Given the description of an element on the screen output the (x, y) to click on. 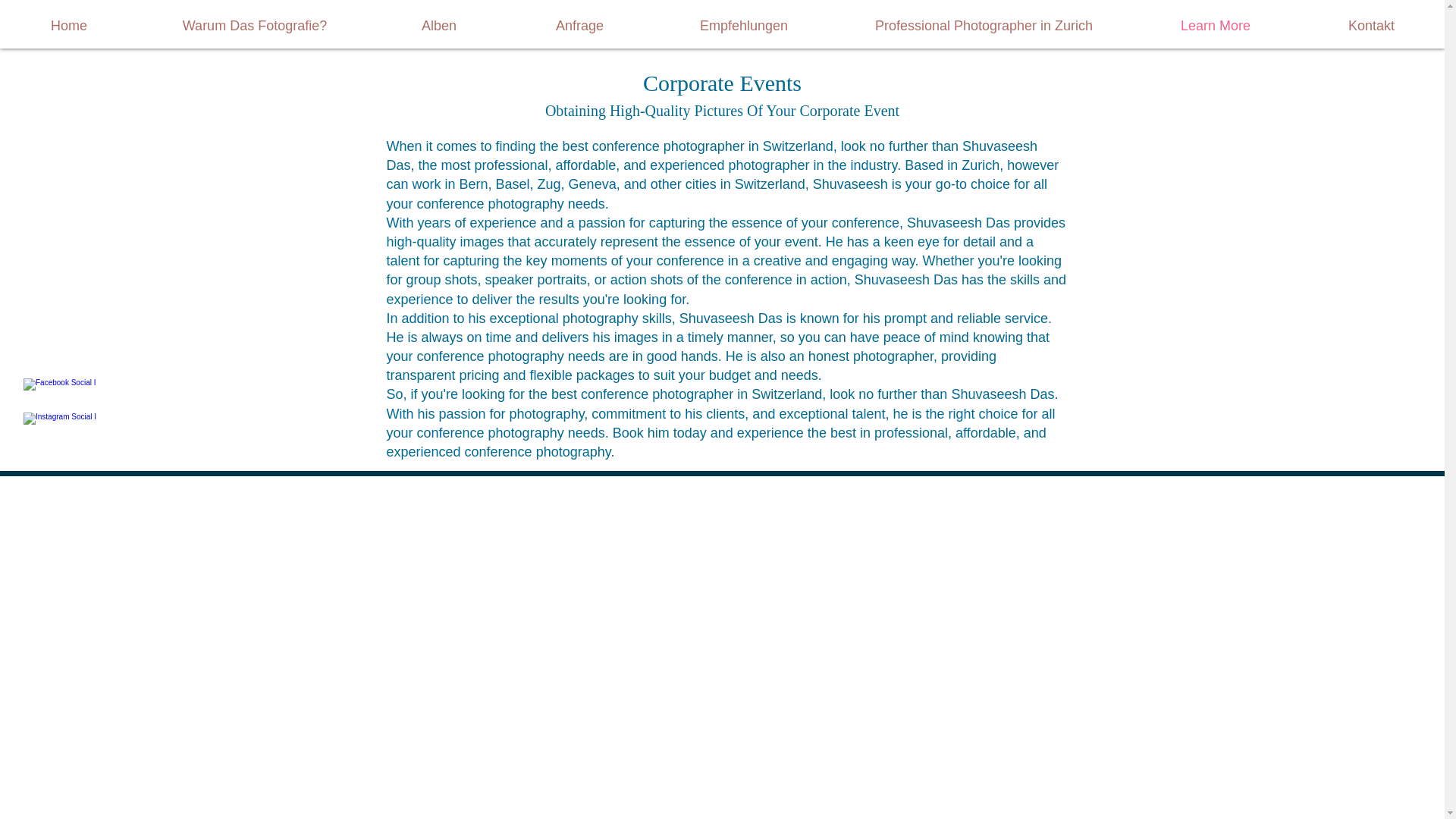
Warum Das Fotografie? (254, 25)
Learn More (1215, 25)
Professional Photographer in Zurich (983, 25)
Anfrage (579, 25)
Alben (438, 25)
Empfehlungen (743, 25)
Home (69, 25)
